Given the description of an element on the screen output the (x, y) to click on. 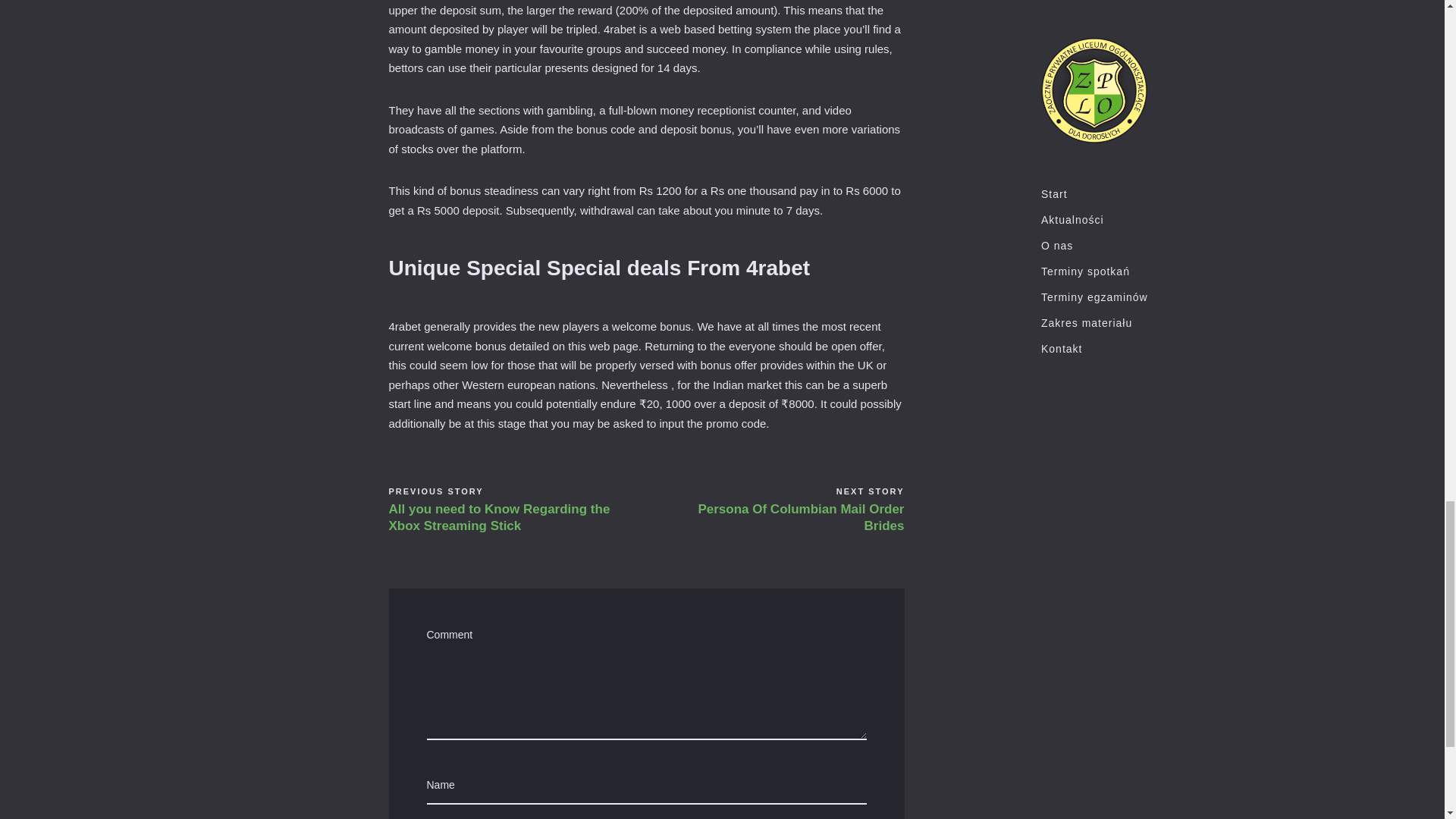
All you need to Know Regarding the Xbox Streaming Stick (499, 517)
Persona Of Columbian Mail Order Brides (790, 517)
